Given the description of an element on the screen output the (x, y) to click on. 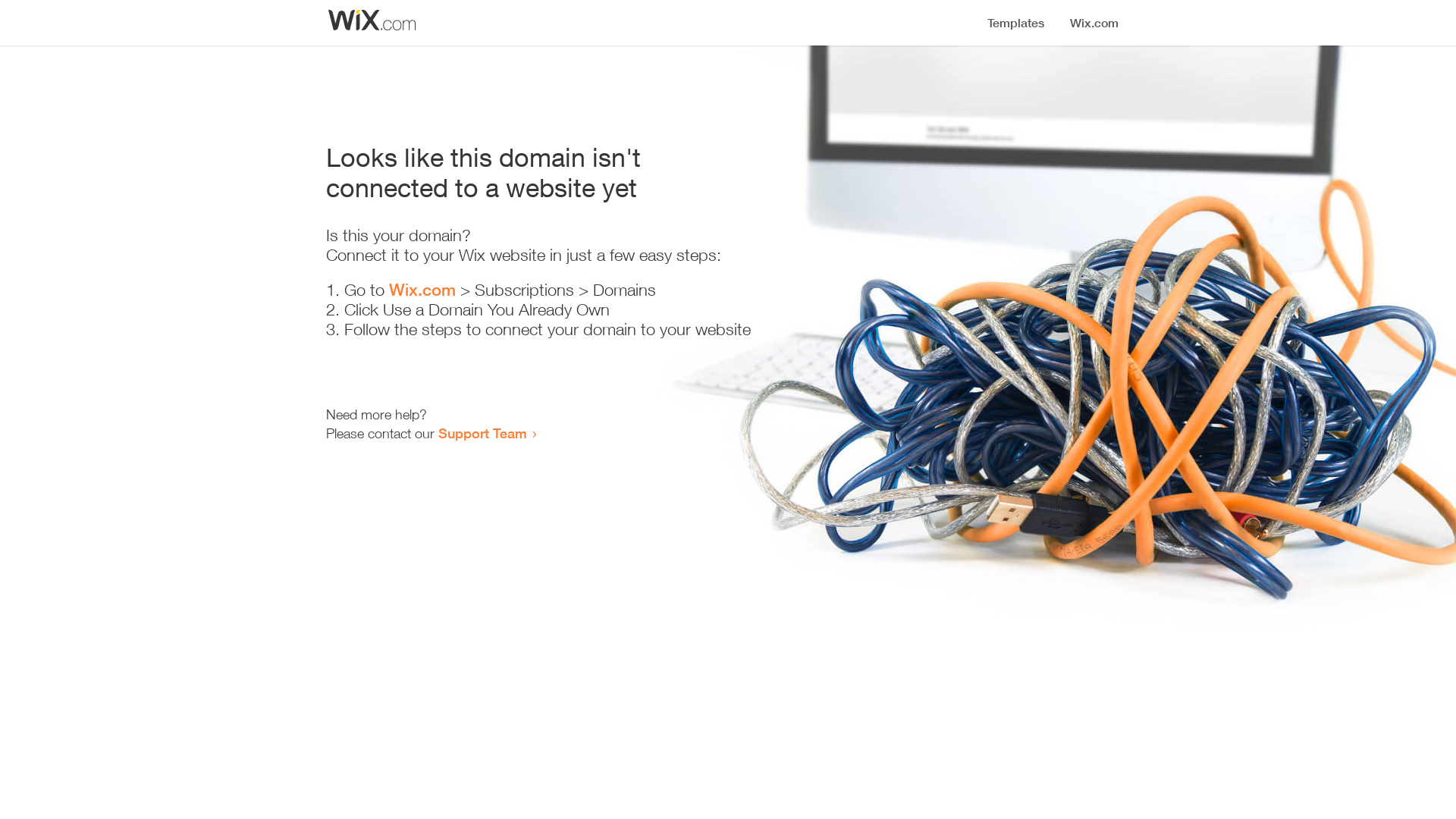
Wix.com Element type: text (422, 289)
Support Team Element type: text (482, 432)
